Given the description of an element on the screen output the (x, y) to click on. 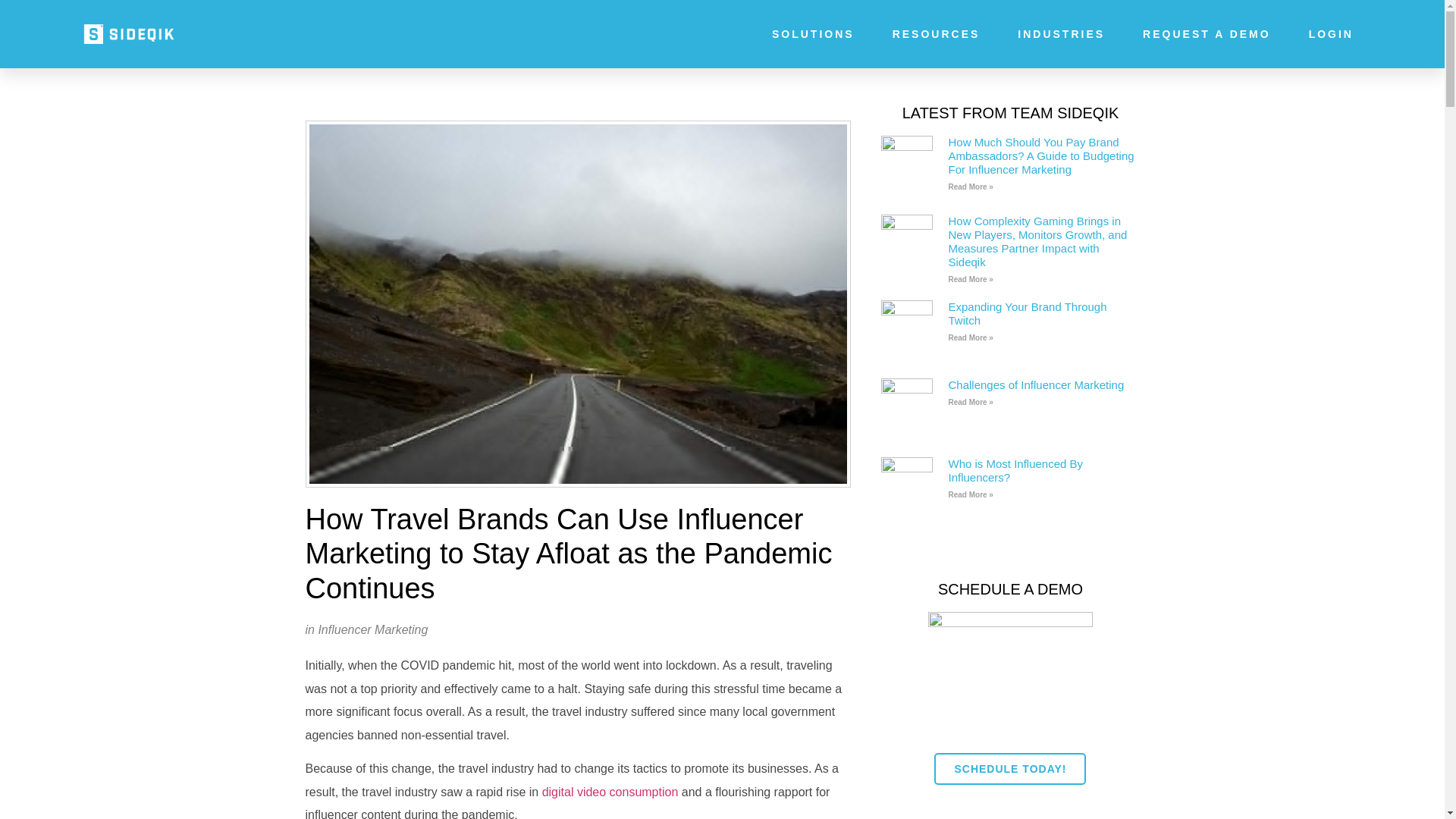
REQUEST A DEMO (1206, 33)
SOLUTIONS (812, 33)
RESOURCES (935, 33)
Influencer Marketing (372, 629)
INDUSTRIES (1061, 33)
digital video consumption (609, 791)
